Given the description of an element on the screen output the (x, y) to click on. 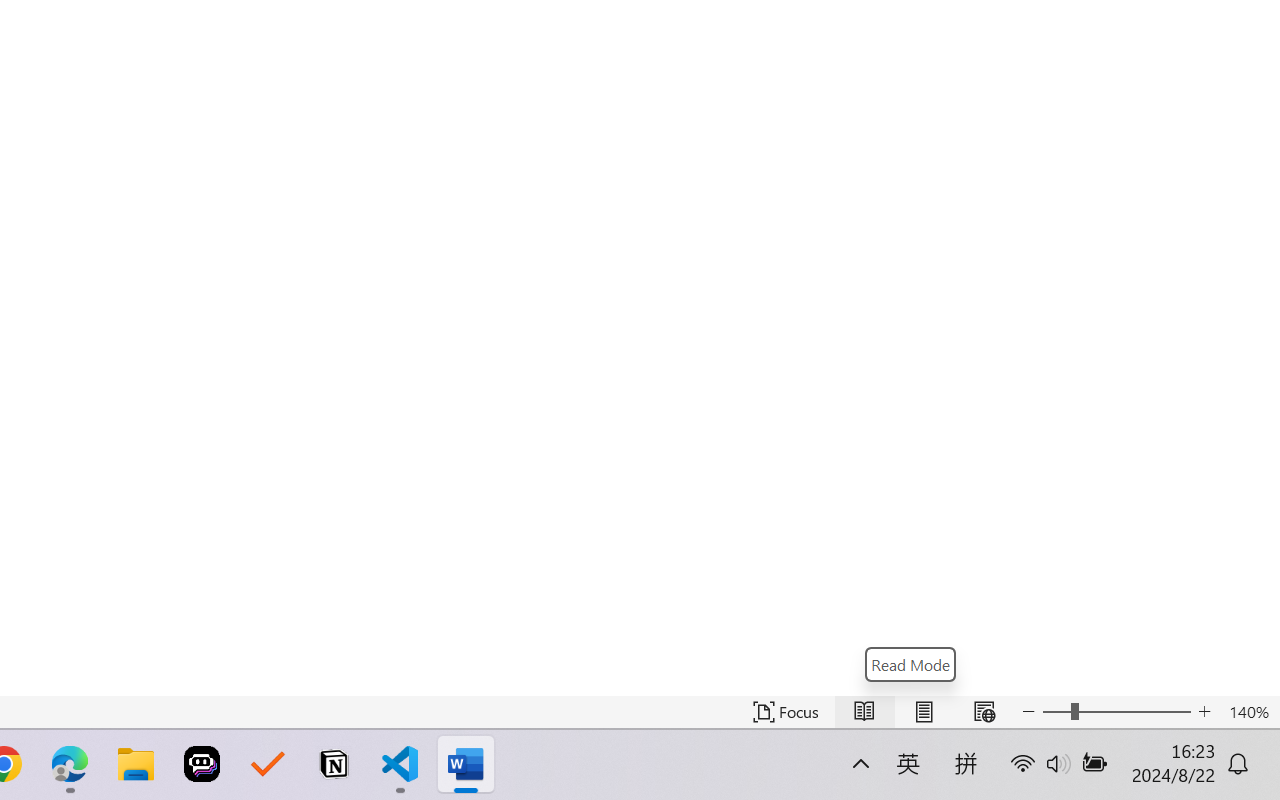
Decrease Text Size (1028, 712)
Increase Text Size (1204, 712)
Text Size (1116, 712)
